Given the description of an element on the screen output the (x, y) to click on. 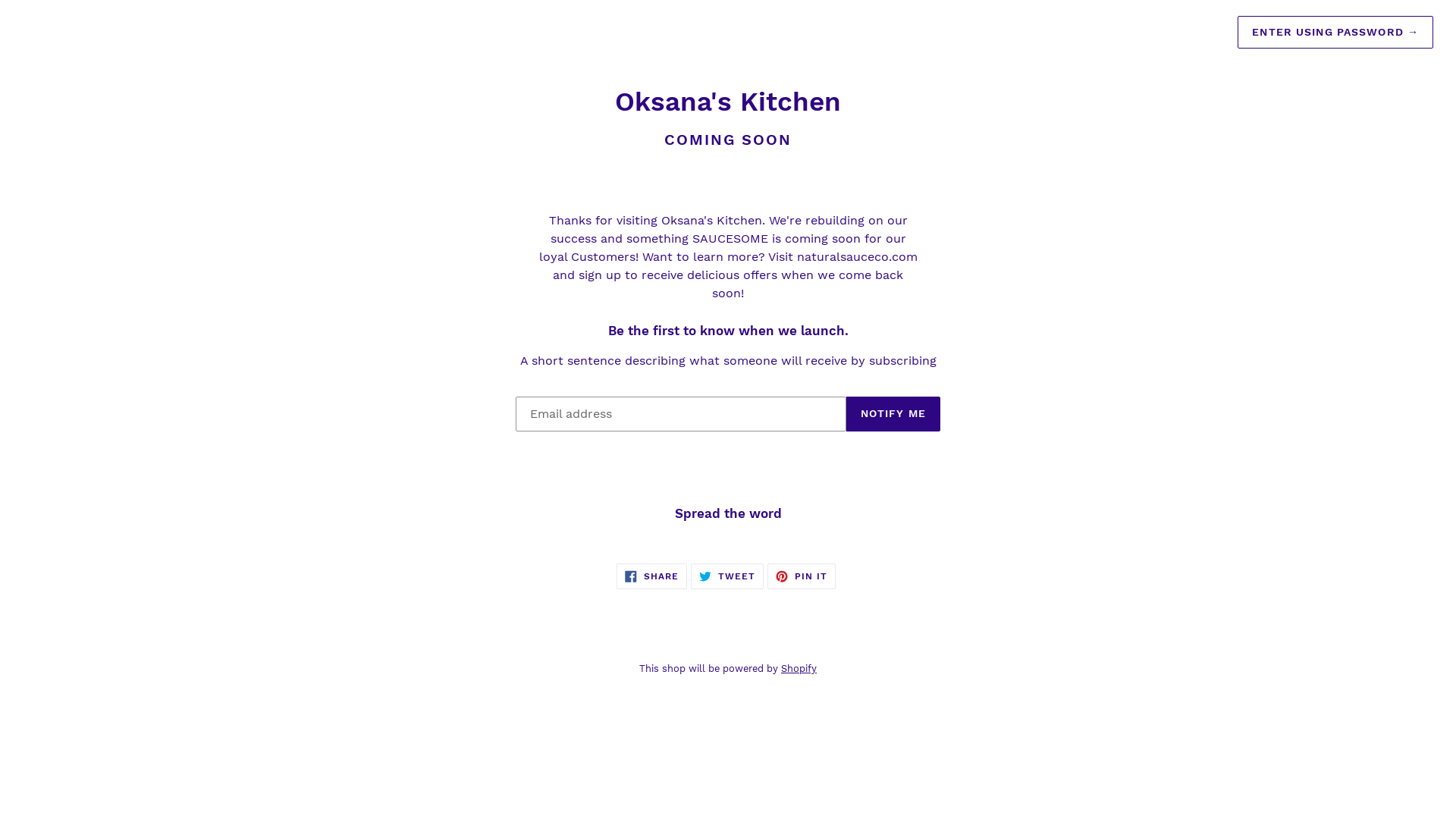
NOTIFY ME Element type: text (893, 413)
SHARE
SHARE ON FACEBOOK Element type: text (651, 576)
TWEET
TWEET ON TWITTER Element type: text (726, 576)
Shopify Element type: text (798, 668)
PIN IT
PIN ON PINTEREST Element type: text (801, 576)
